Given the description of an element on the screen output the (x, y) to click on. 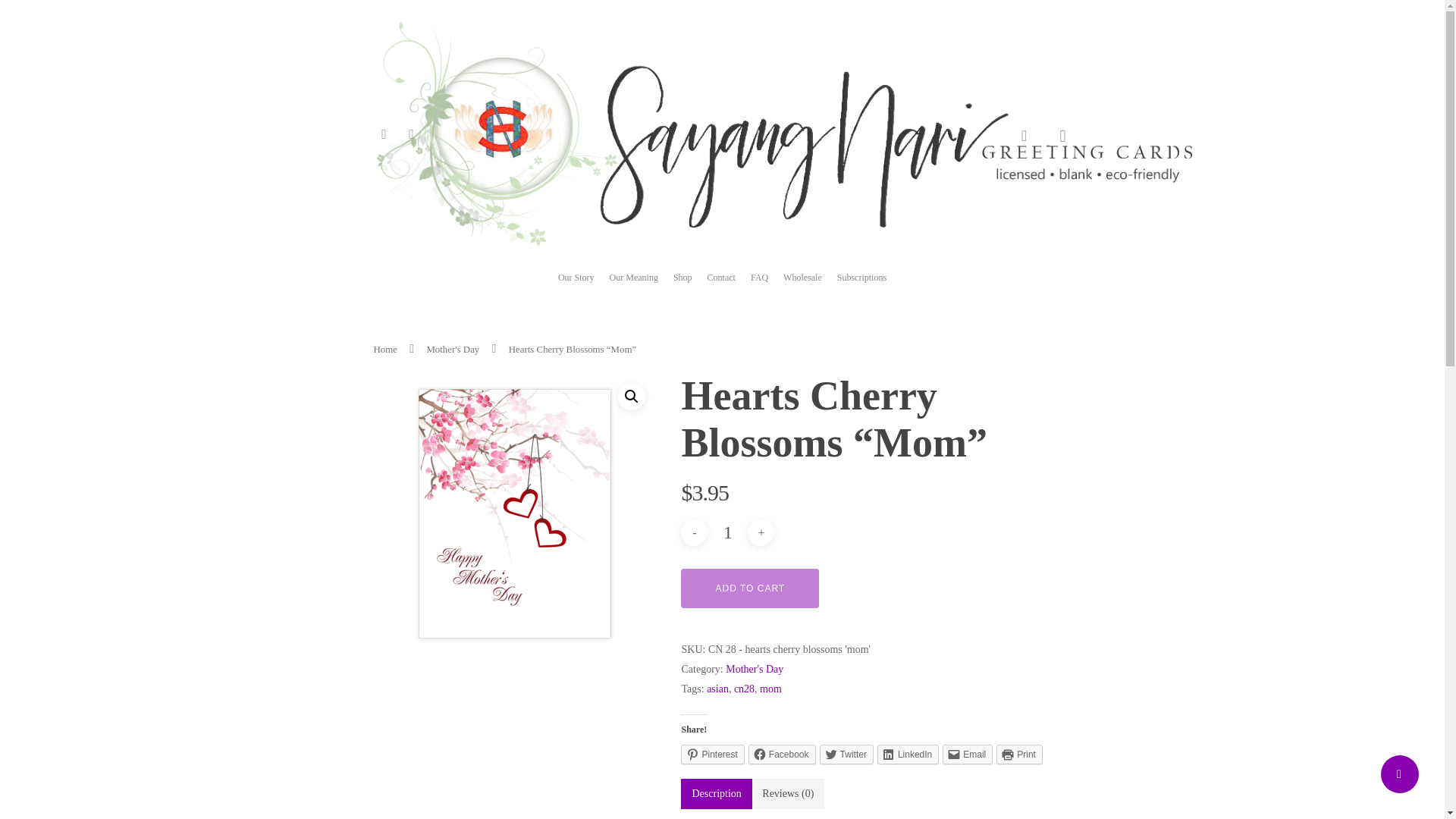
Click to share on LinkedIn (908, 754)
Our Meaning (634, 288)
Subscriptions (861, 288)
Wholesale (802, 288)
Click to share on Facebook (781, 754)
' (514, 513)
Click to share on Twitter (846, 754)
1 (727, 532)
Qty (727, 532)
Click to share on Pinterest (712, 754)
Click to email this to a friend (967, 754)
- (694, 532)
Our Story (575, 288)
Click to print (1018, 754)
